Given the description of an element on the screen output the (x, y) to click on. 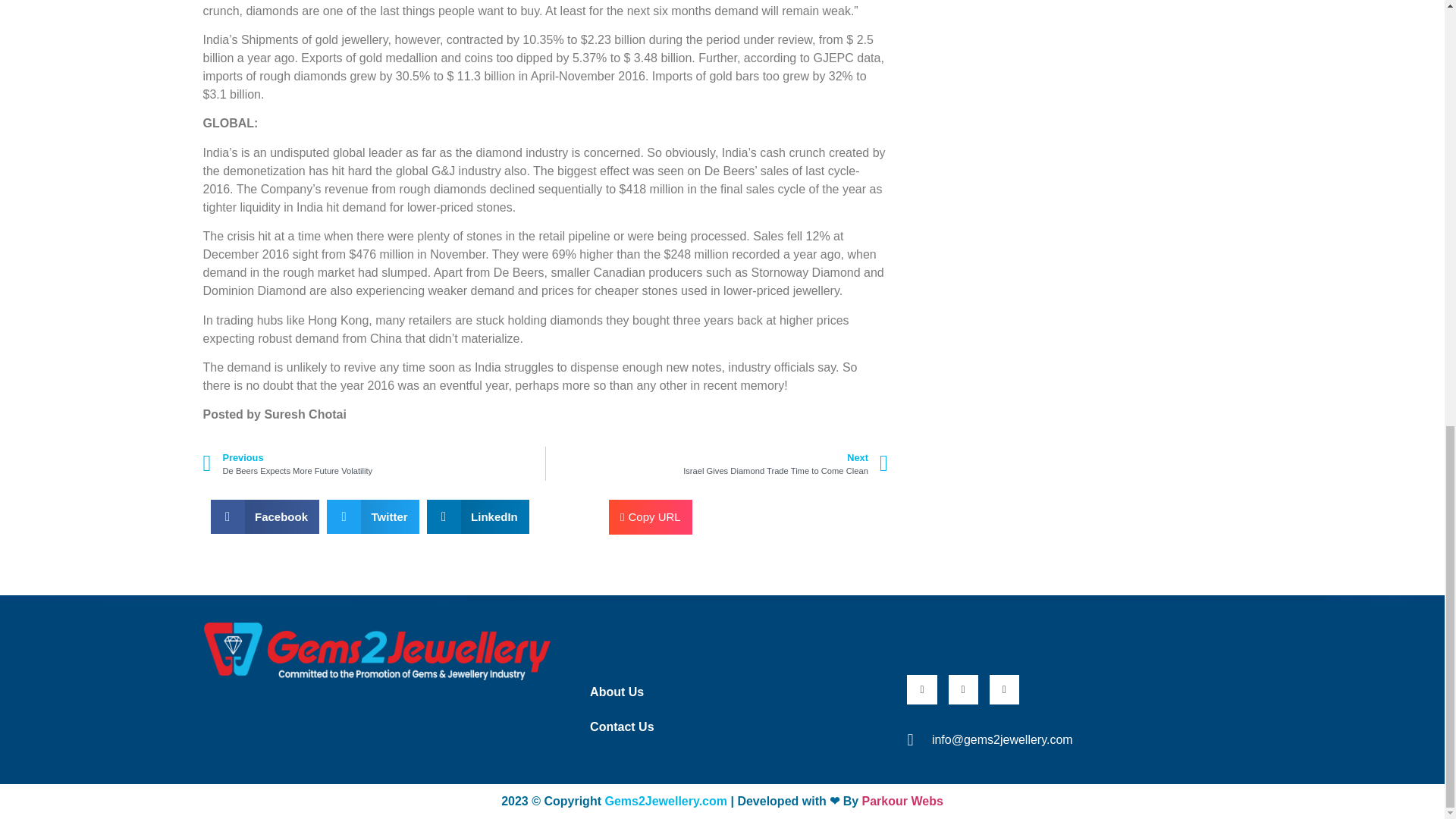
About Us (728, 692)
Contact Us (373, 463)
Copy URL (728, 727)
